Given the description of an element on the screen output the (x, y) to click on. 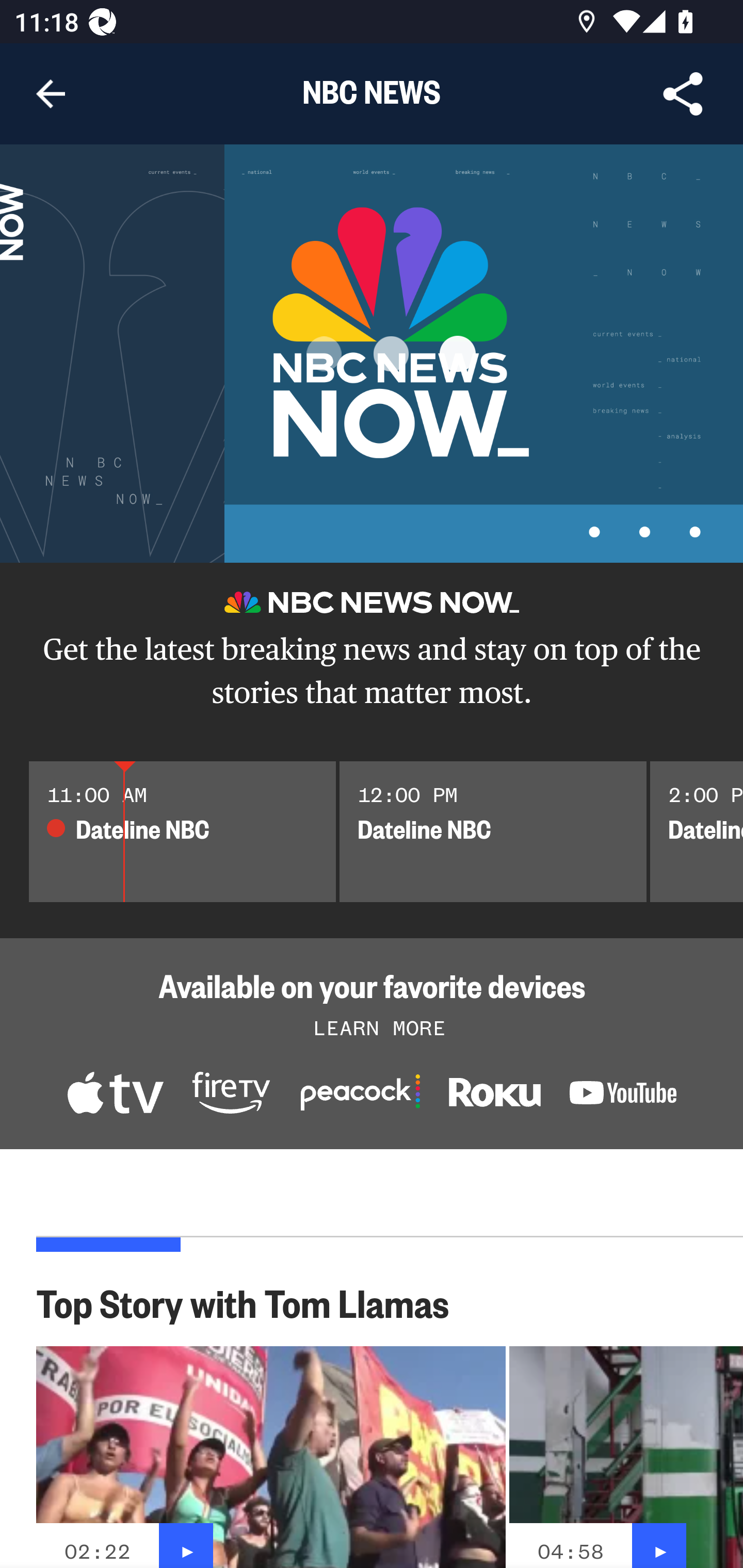
Navigate up (50, 93)
Share Article, button (683, 94)
1260802722430-NBC-News-Now (115, 1095)
B0055DL1G4 (231, 1095)
nbc-news (494, 1096)
nbcnews (622, 1095)
Top Story with Tom Llamas (253, 1301)
02:22  02:22 02:22 02:22  (270, 1456)
